Given the description of an element on the screen output the (x, y) to click on. 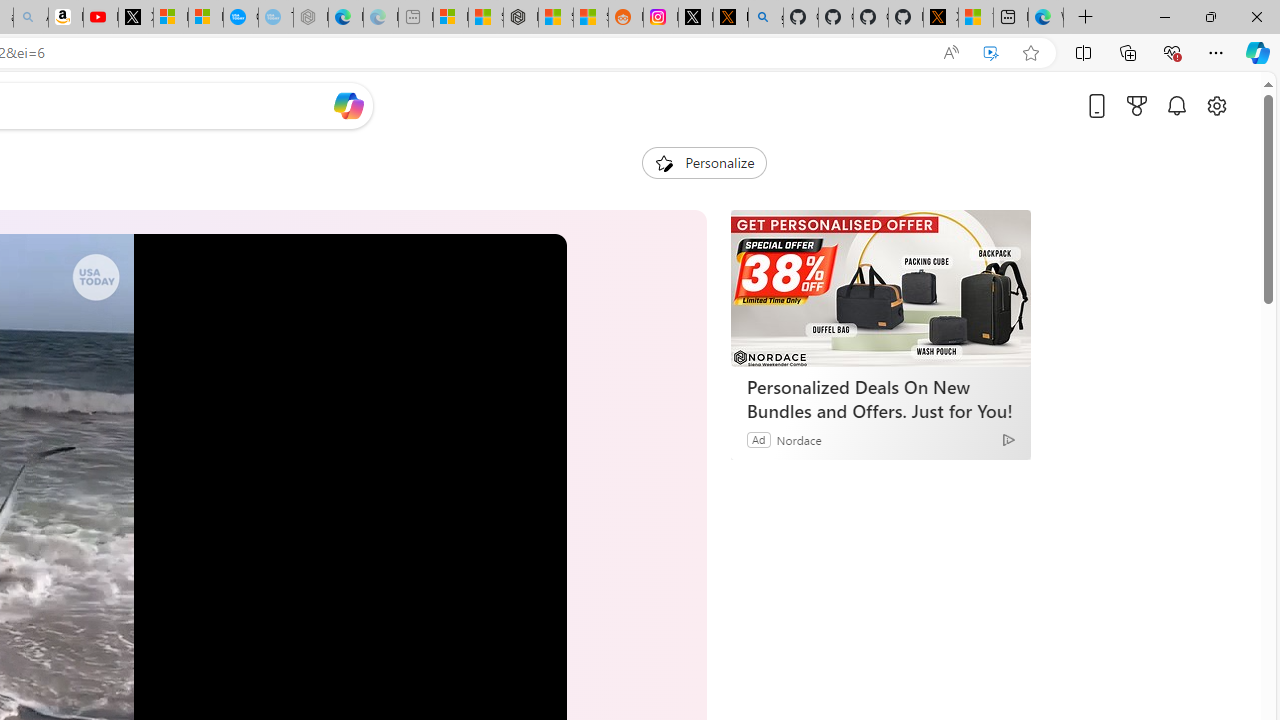
To get missing image descriptions, open the context menu. (664, 162)
Microsoft account | Microsoft Account Privacy Settings (450, 17)
Ad (758, 439)
Amazon Echo Dot PNG - Search Images - Sleeping (31, 17)
Personalize (703, 162)
Ad Choice (1008, 439)
Nordace - Duffels (520, 17)
New tab - Sleeping (415, 17)
Day 1: Arriving in Yemen (surreal to be here) - YouTube (100, 17)
